Given the description of an element on the screen output the (x, y) to click on. 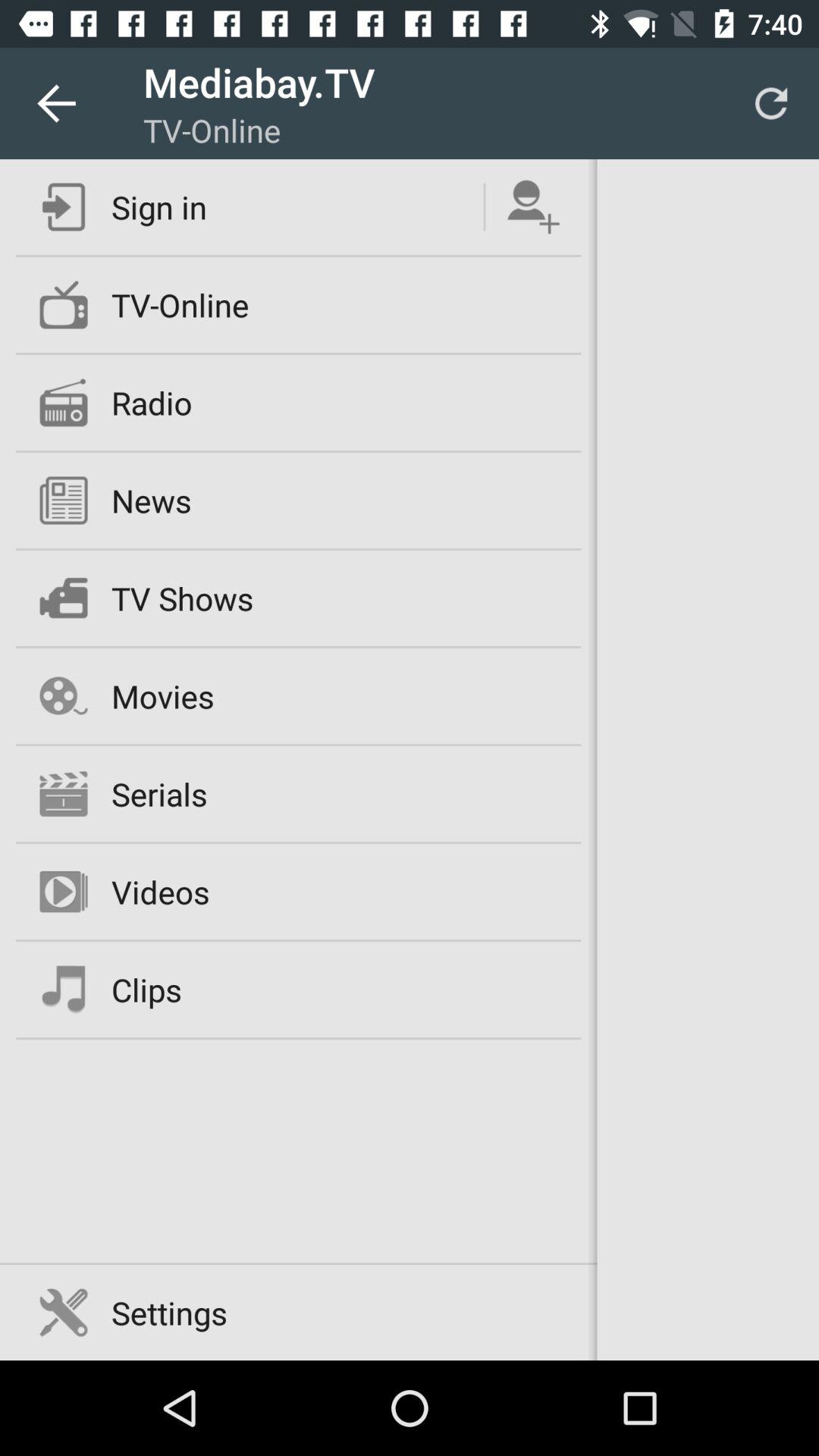
turn on the movies (162, 695)
